Given the description of an element on the screen output the (x, y) to click on. 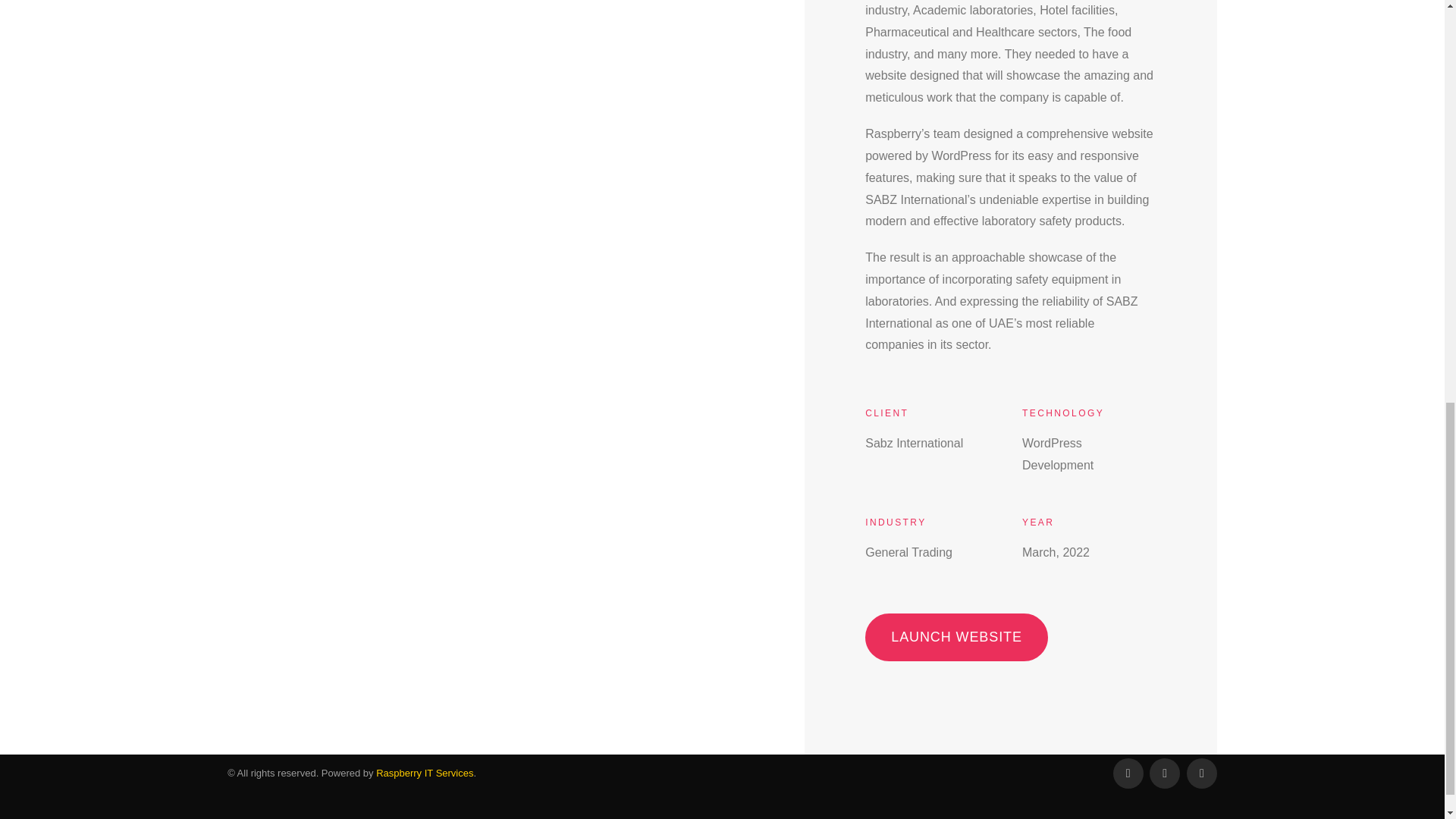
LAUNCH WEBSITE (956, 640)
